Given the description of an element on the screen output the (x, y) to click on. 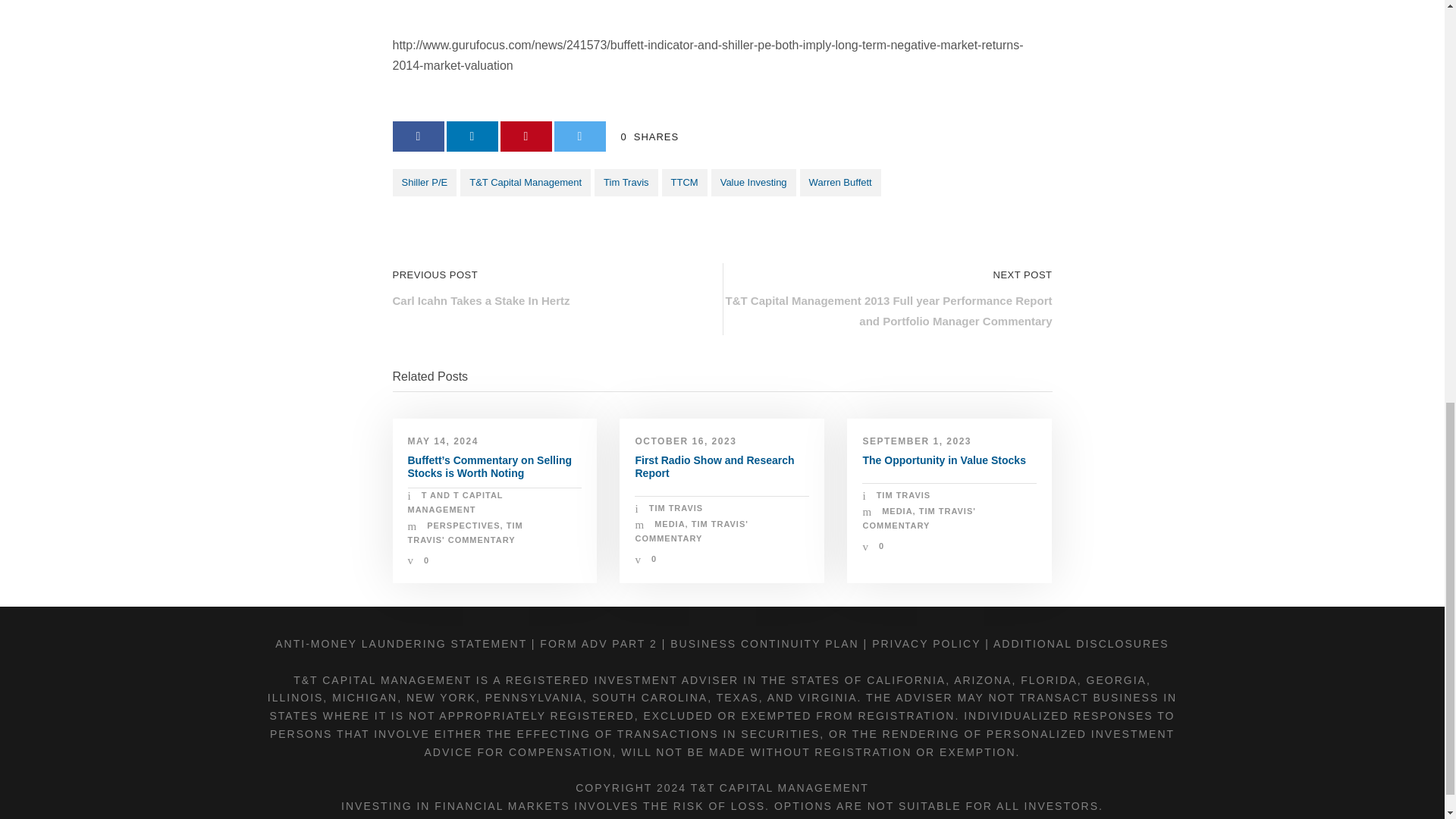
Posts by Tim Travis (676, 507)
Carl Icahn Takes a Stake In Hertz (481, 300)
Posts by T and T Capital Management (455, 502)
Posts by Tim Travis (903, 494)
Tim Travis (626, 182)
TTCM (684, 182)
Warren Buffett (839, 182)
Value Investing (753, 182)
